Given the description of an element on the screen output the (x, y) to click on. 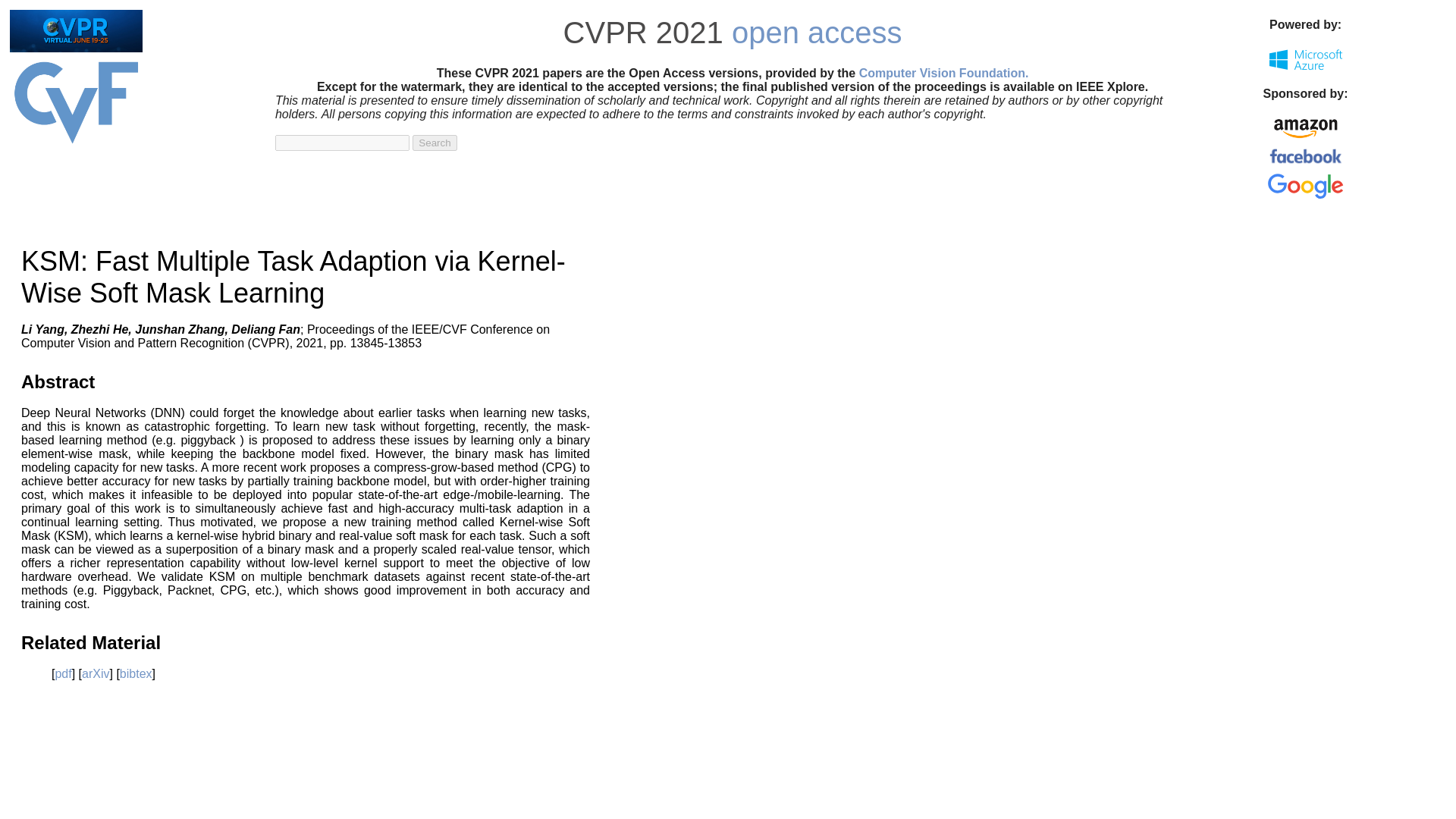
Search (434, 142)
open access (817, 32)
bibtex (135, 673)
arXiv (95, 673)
pdf (63, 673)
CVPR 2021 (643, 32)
Search (434, 142)
Computer Vision Foundation. (944, 72)
